Given the description of an element on the screen output the (x, y) to click on. 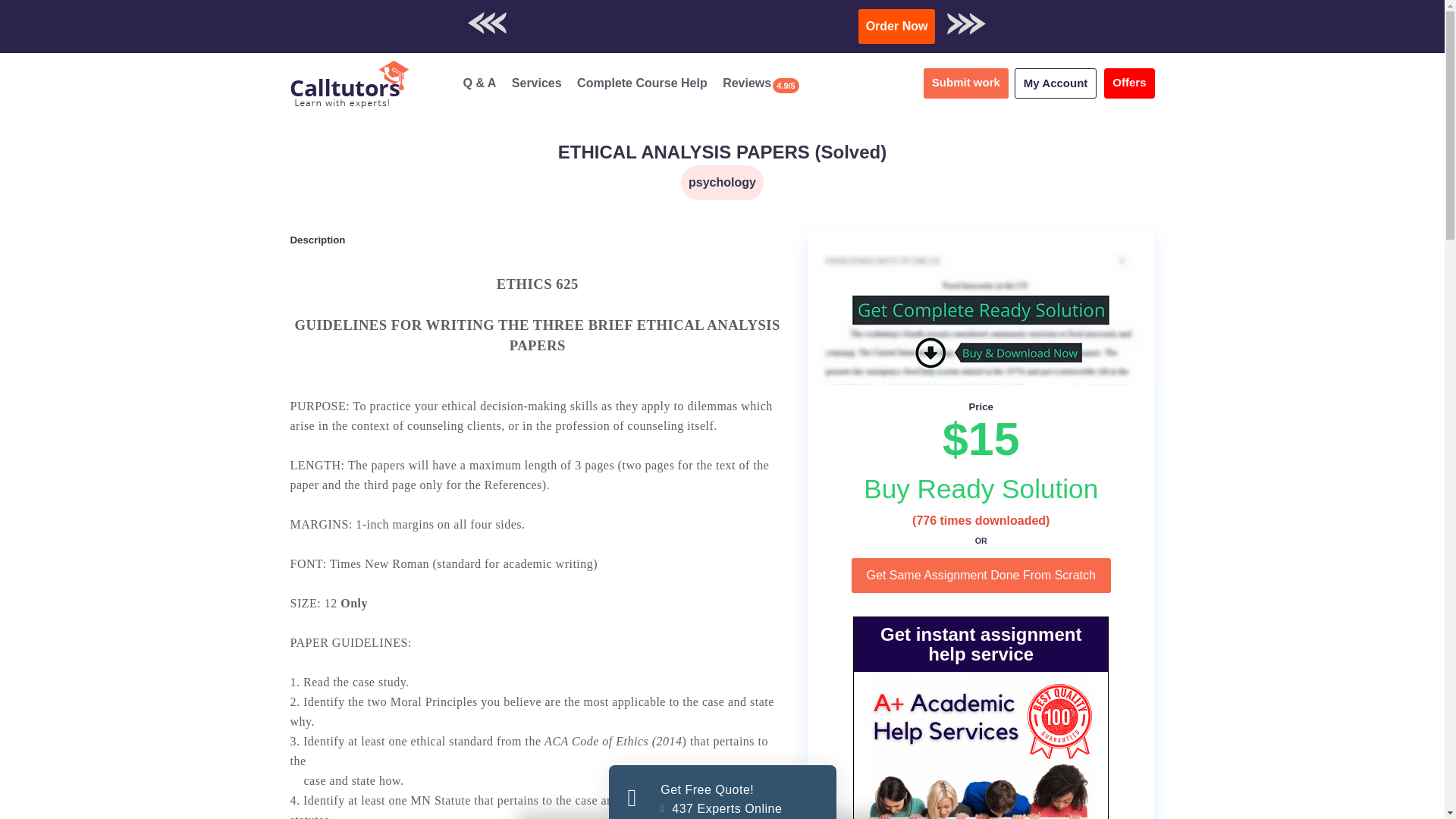
Offers (1128, 82)
Assignment Title (721, 152)
Buy Ready Soluion (981, 488)
Get Same Assignment Done From Scratch (980, 574)
My Account (1055, 82)
Submit work (641, 82)
Assignment Subject (966, 82)
Download Sample (721, 182)
Services (901, 18)
Buy Ready Solution (537, 82)
Get Same Assignment Done From Scratch (981, 488)
Order Now (980, 574)
Submit Work (721, 791)
